Given the description of an element on the screen output the (x, y) to click on. 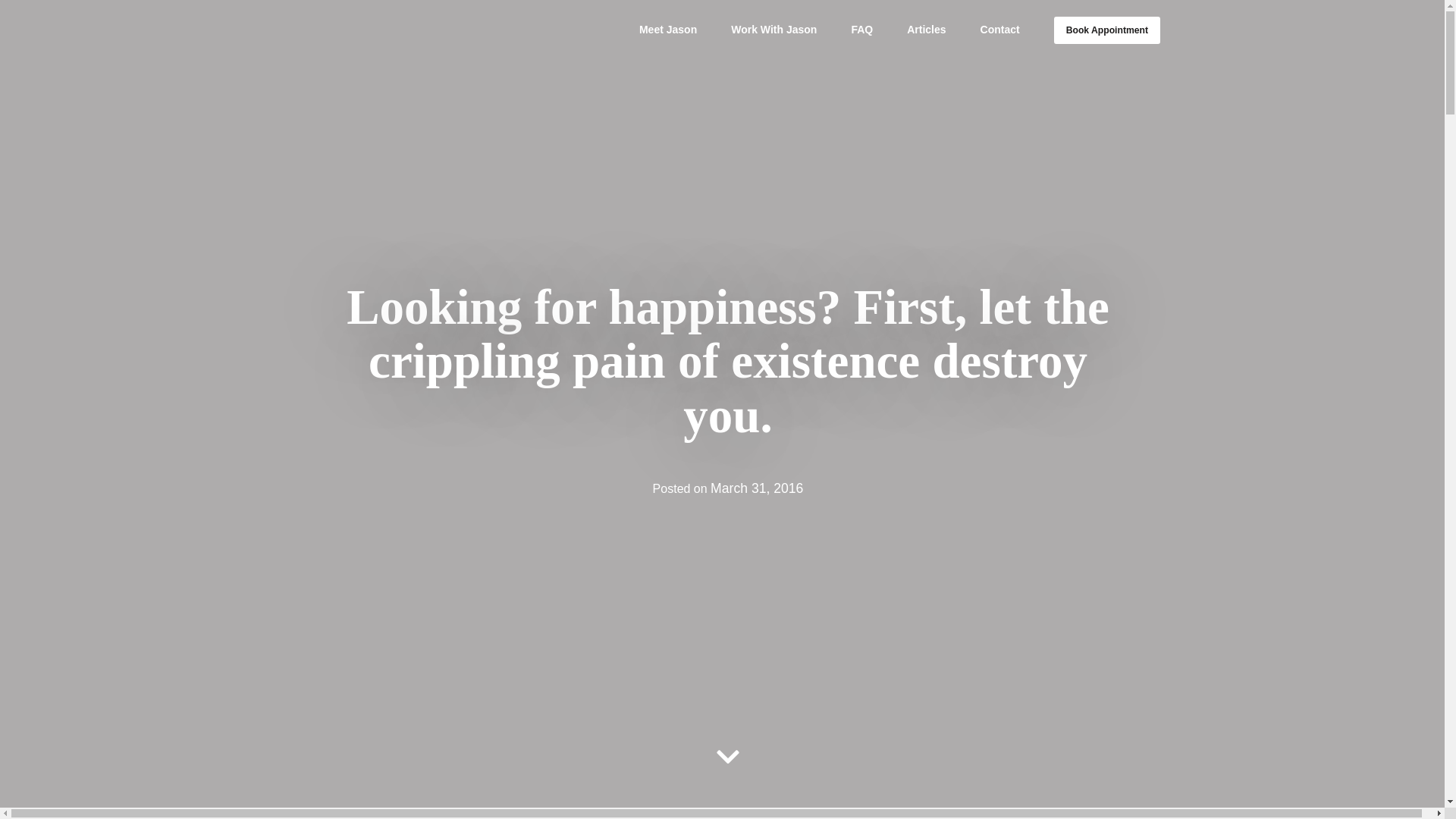
FAQ (861, 29)
Contact (999, 29)
Work With Jason (773, 29)
Articles (925, 29)
Meet Jason (668, 29)
March 31, 2016 (756, 488)
Book Appointment (1106, 30)
